Given the description of an element on the screen output the (x, y) to click on. 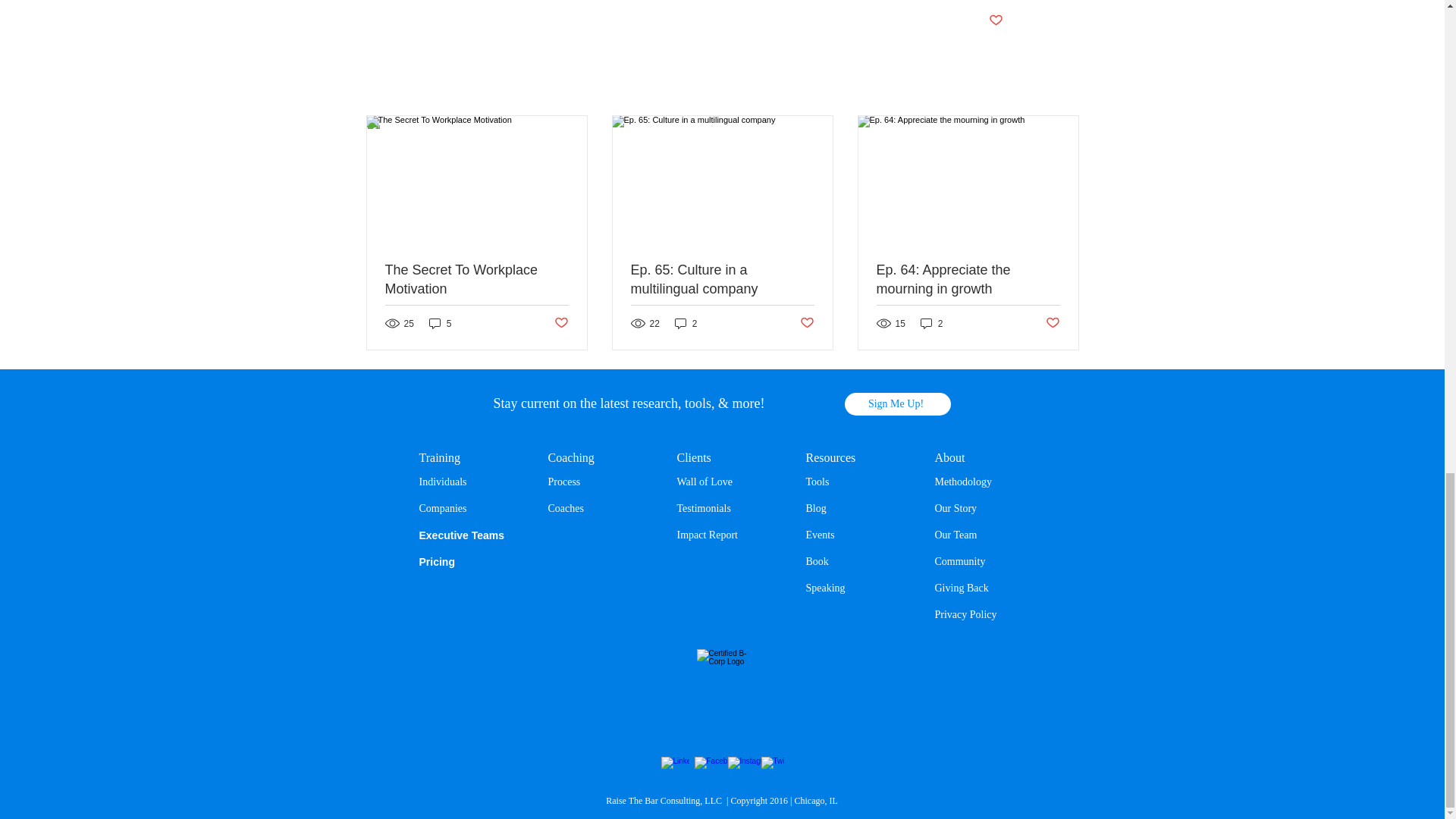
2 (931, 323)
Post not marked as liked (995, 20)
Ep. 64: Appreciate the mourning in growth (967, 279)
The Secret To Workplace Motivation (477, 279)
Post not marked as liked (806, 323)
Post not marked as liked (1052, 323)
2 (685, 323)
Post not marked as liked (560, 323)
Individuals (442, 481)
5 (440, 323)
